Given the description of an element on the screen output the (x, y) to click on. 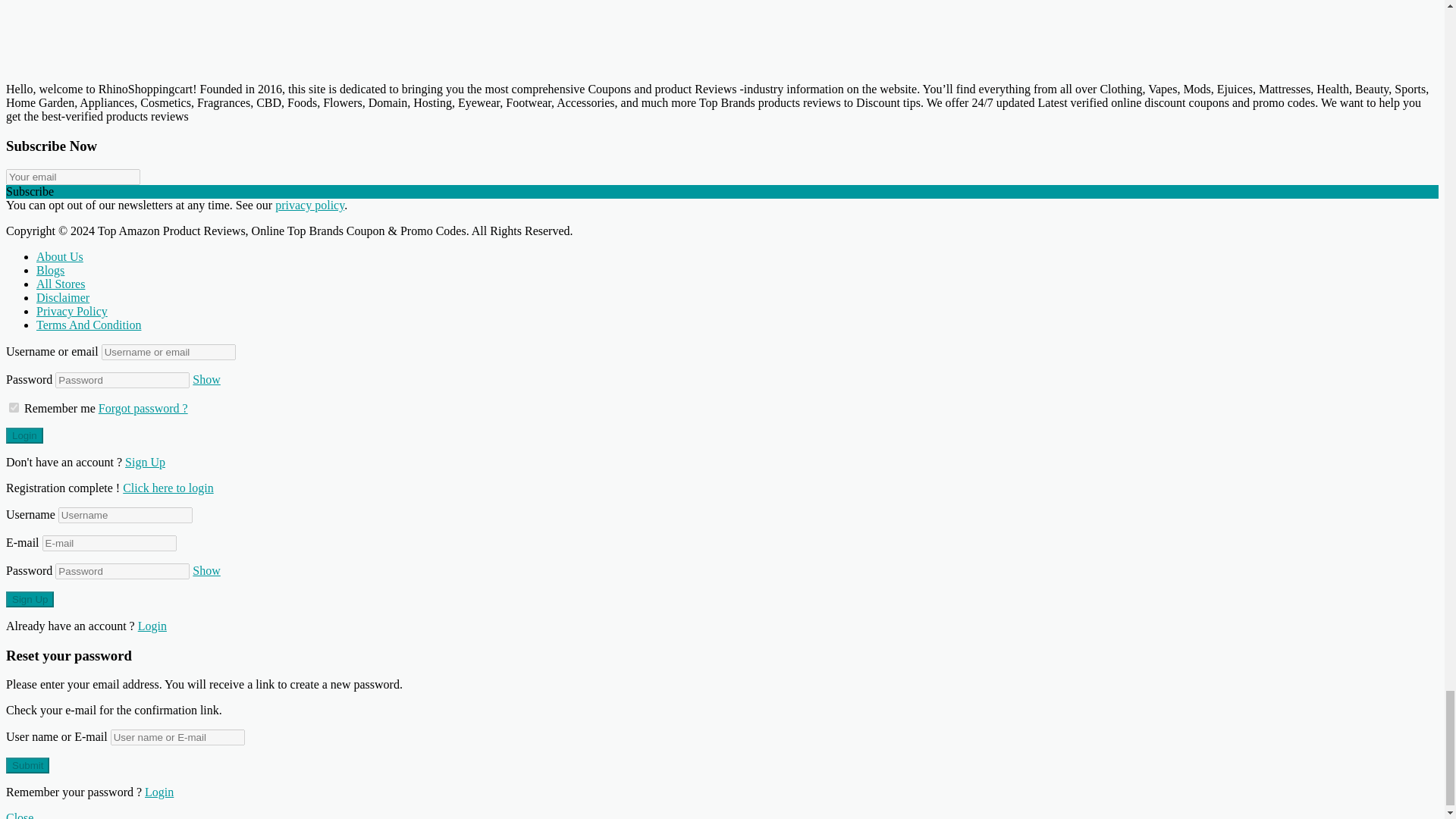
Submit (27, 765)
Login (168, 487)
Login (24, 435)
Sign Up (29, 599)
forever (13, 407)
